Given the description of an element on the screen output the (x, y) to click on. 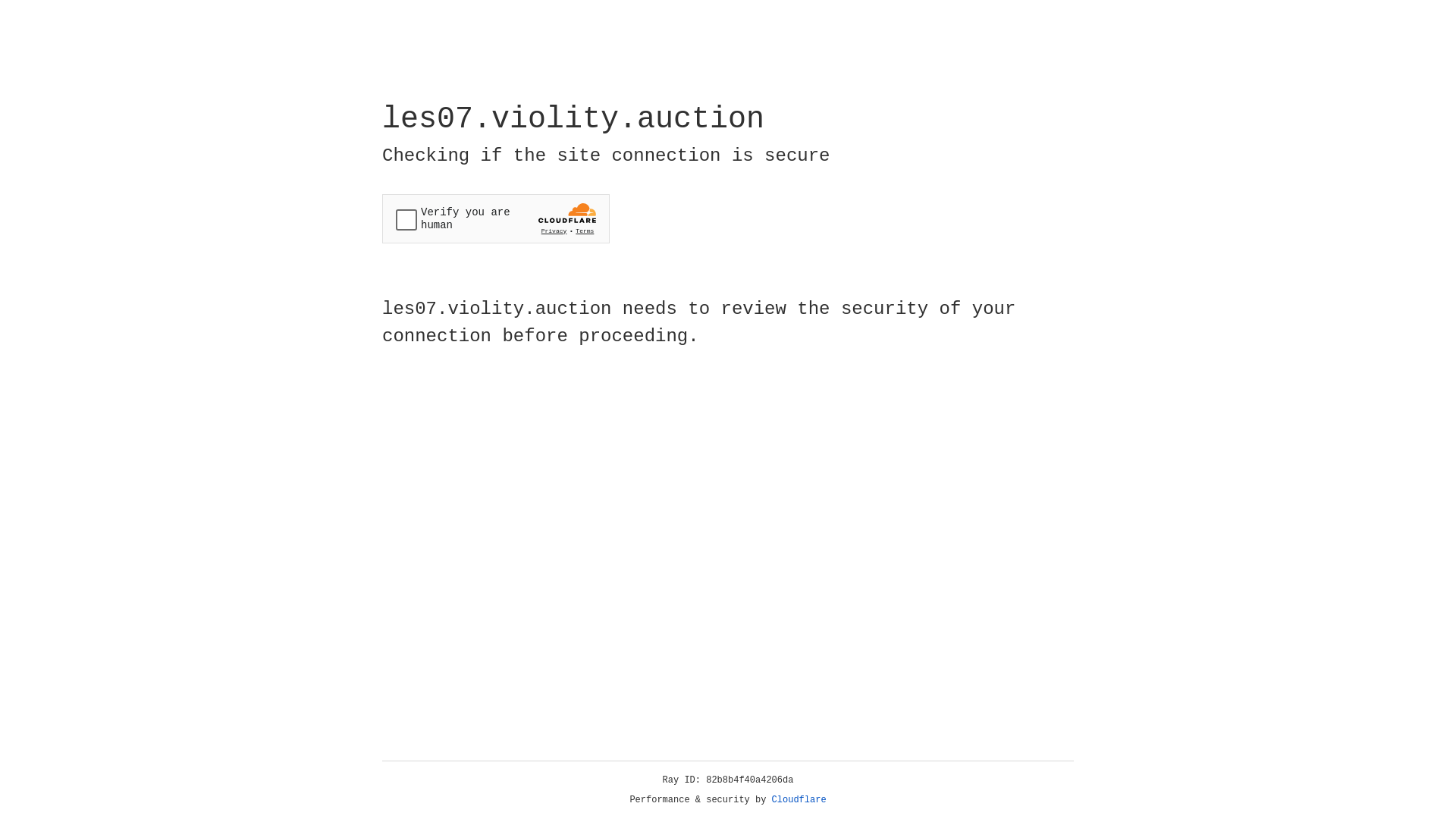
Widget containing a Cloudflare security challenge Element type: hover (495, 218)
Cloudflare Element type: text (798, 799)
